Given the description of an element on the screen output the (x, y) to click on. 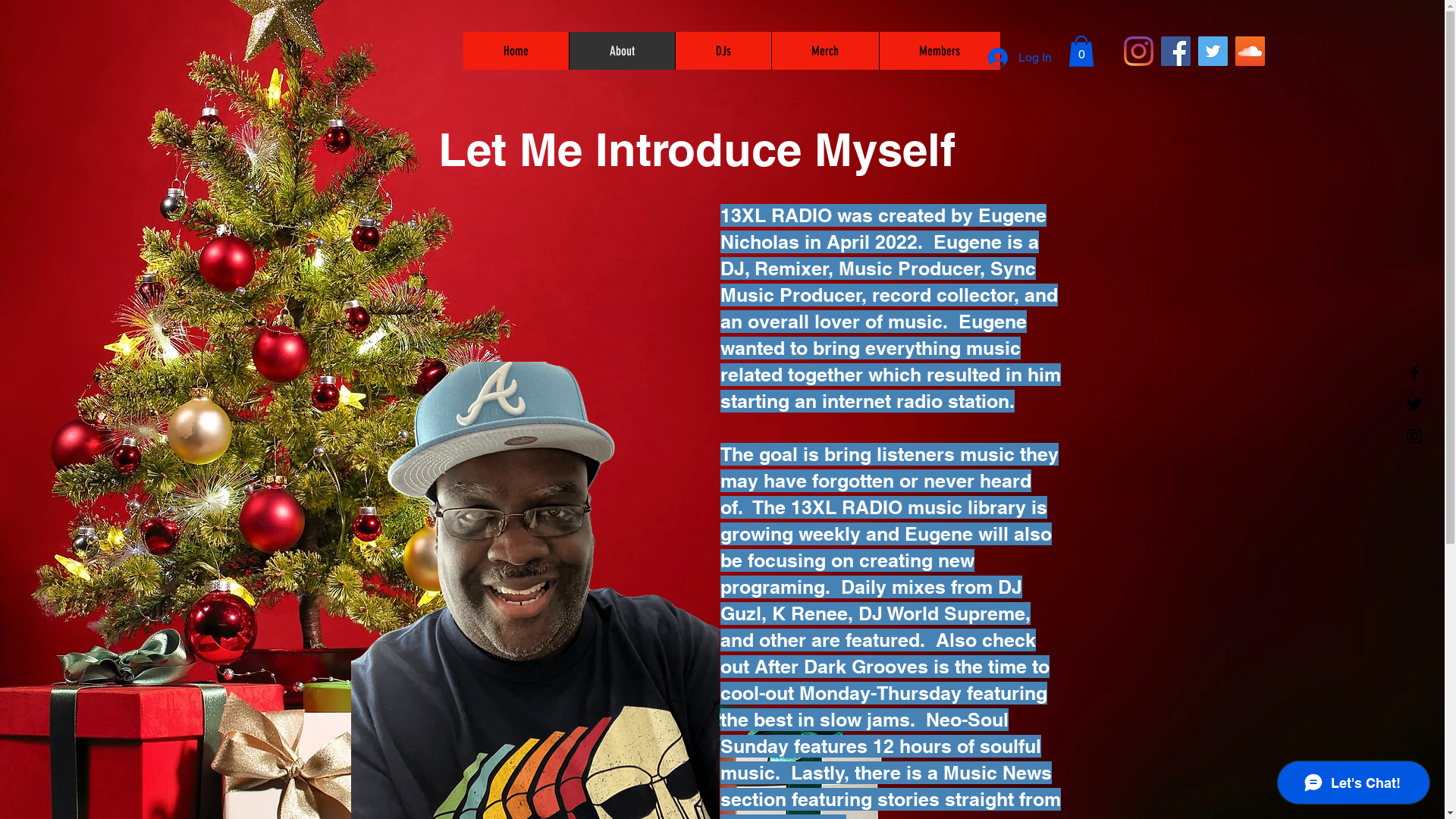
About Element type: text (621, 50)
DJs Element type: text (722, 50)
Home Element type: text (514, 50)
0 Element type: text (1080, 50)
Log In Element type: text (1018, 57)
Merch Element type: text (824, 50)
Members Element type: text (938, 50)
